Given the description of an element on the screen output the (x, y) to click on. 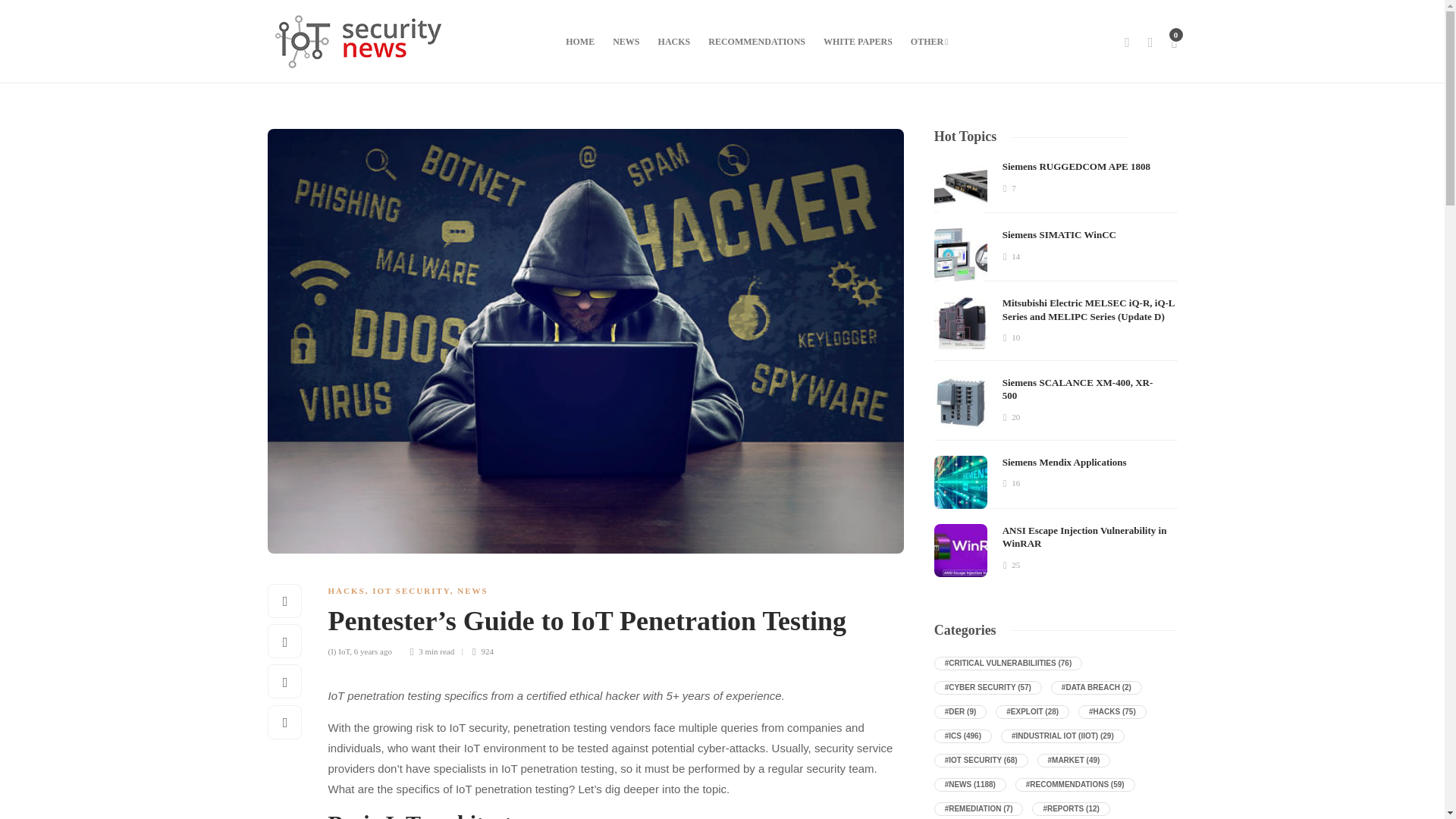
WHITE PAPERS (858, 40)
RECOMMENDATIONS (756, 40)
